Given the description of an element on the screen output the (x, y) to click on. 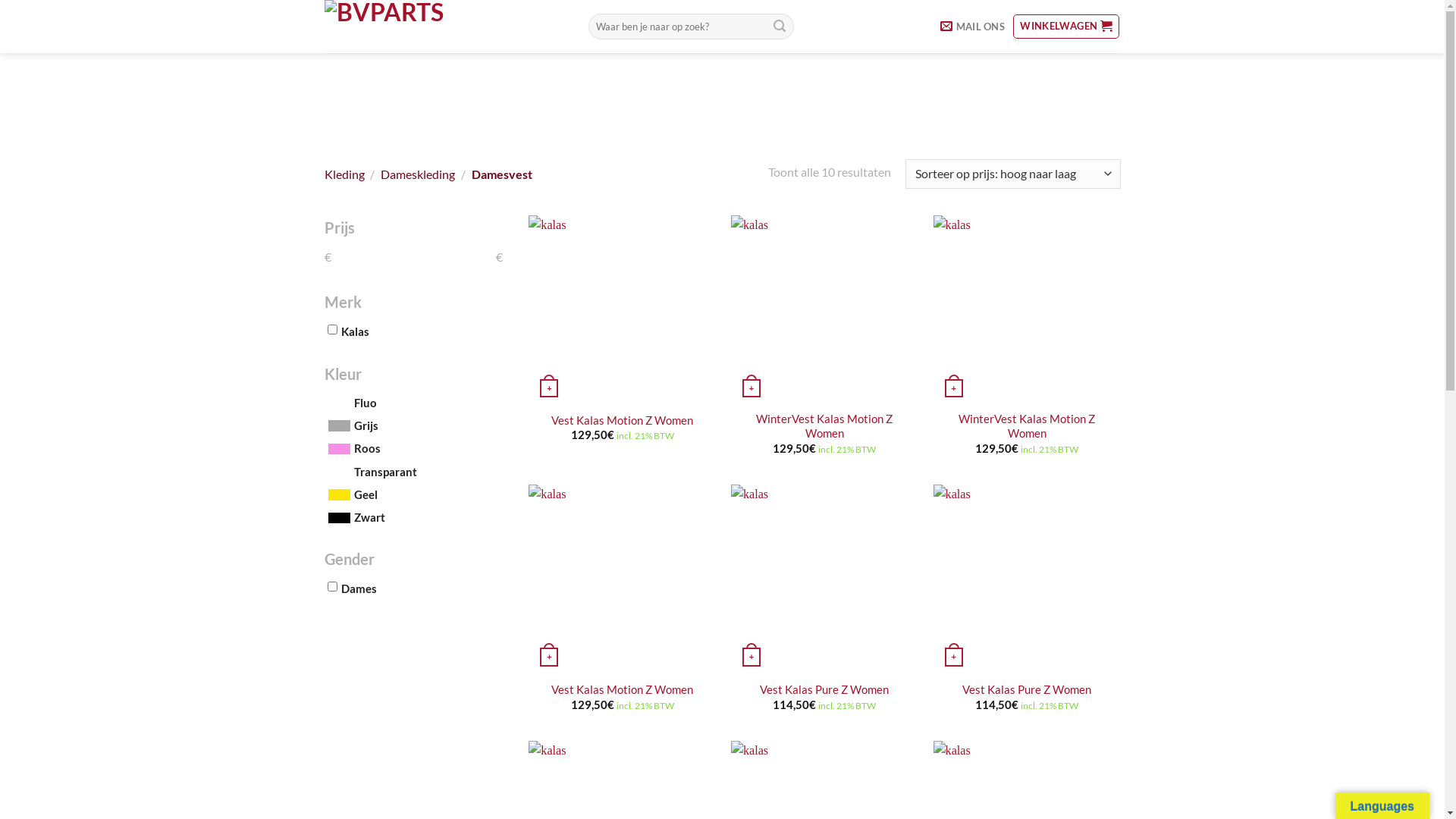
Vest Kalas Pure Z Women Element type: text (1026, 690)
Vest Kalas Motion Z Women Element type: text (622, 690)
WinterVest Kalas Motion Z Women Element type: text (824, 426)
Kleding Element type: text (344, 173)
MAIL ONS Element type: text (972, 26)
Zoeken Element type: text (779, 26)
WINKELWAGEN Element type: text (1066, 26)
Vest Kalas Pure Z Women Element type: text (823, 690)
Dameskleding Element type: text (417, 173)
WinterVest Kalas Motion Z Women Element type: text (1027, 426)
BVPARTS - Professional Bicycle Mechanic and Webshop! Element type: hover (444, 26)
Vest Kalas Motion Z Women Element type: text (622, 421)
